Given the description of an element on the screen output the (x, y) to click on. 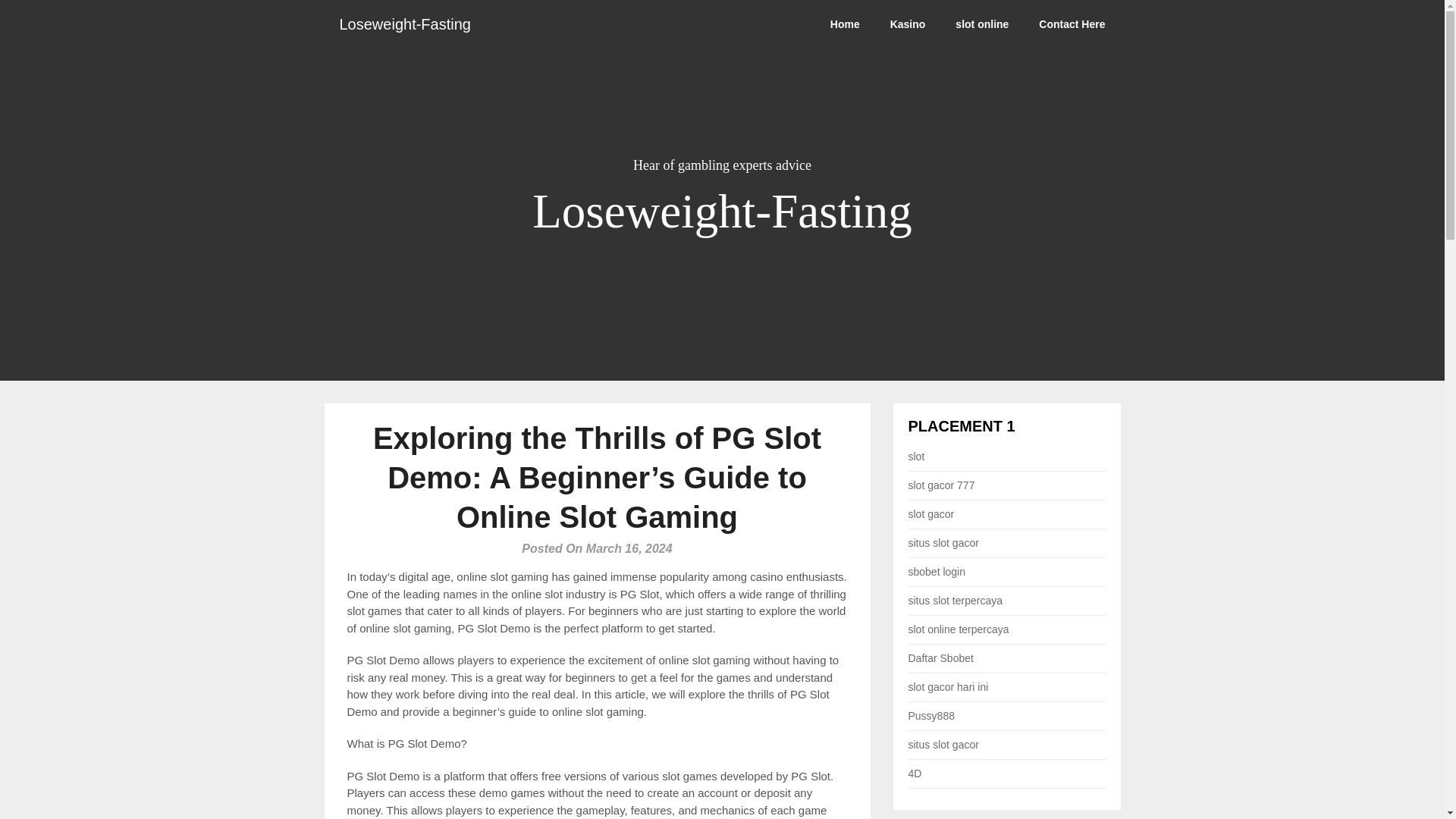
situs slot terpercaya (955, 600)
slot gacor 777 (941, 485)
Kasino (907, 24)
Pussy888 (931, 715)
sbobet login (937, 571)
situs slot gacor (943, 744)
slot gacor hari ini (948, 686)
slot online (981, 24)
Daftar Sbobet (941, 657)
slot gacor (931, 513)
slot online terpercaya (958, 629)
Loseweight-Fasting (405, 24)
4D (914, 773)
Home (845, 24)
situs slot gacor (943, 542)
